Given the description of an element on the screen output the (x, y) to click on. 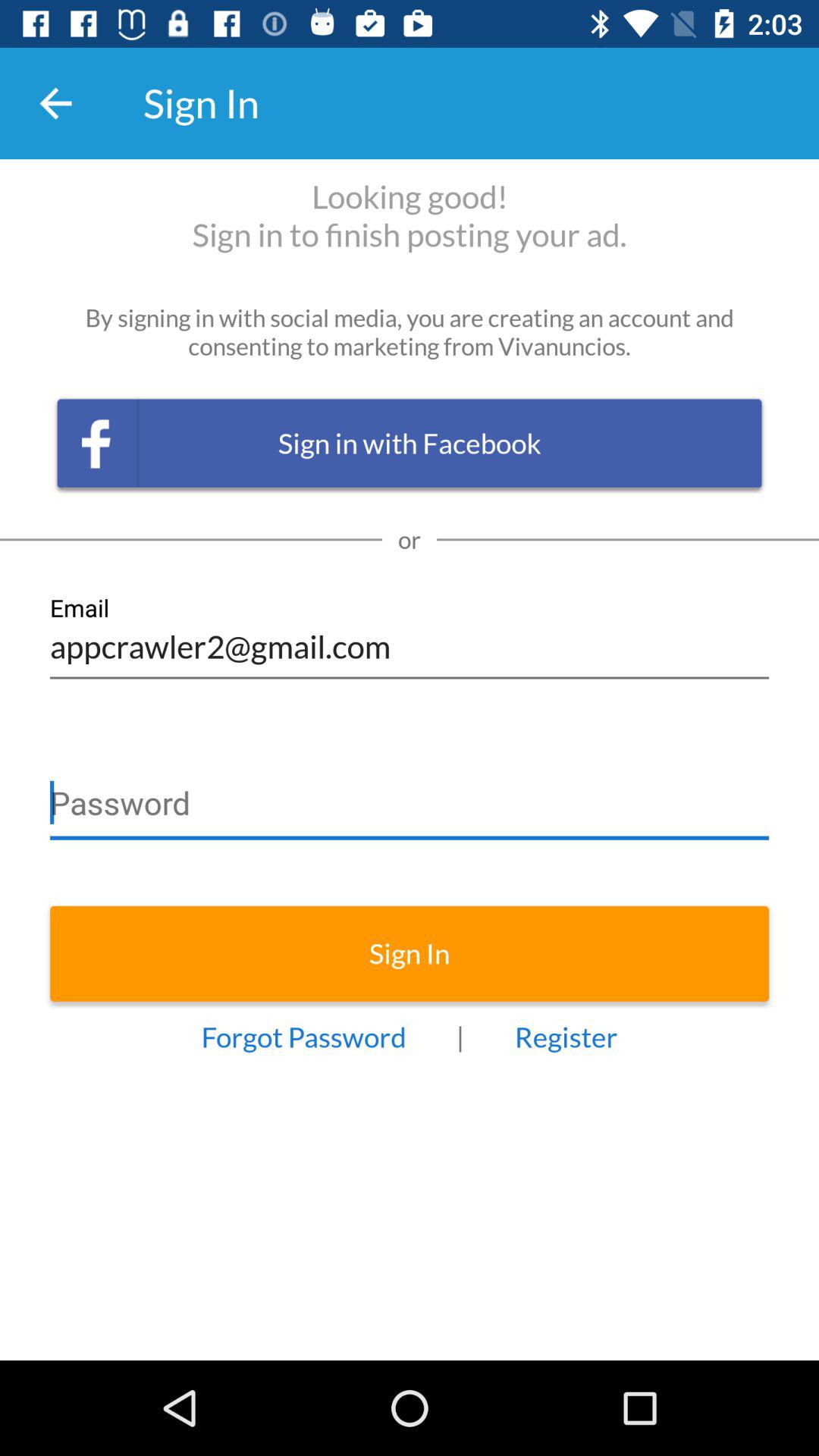
open the item below appcrawler2@gmail.com icon (409, 795)
